Given the description of an element on the screen output the (x, y) to click on. 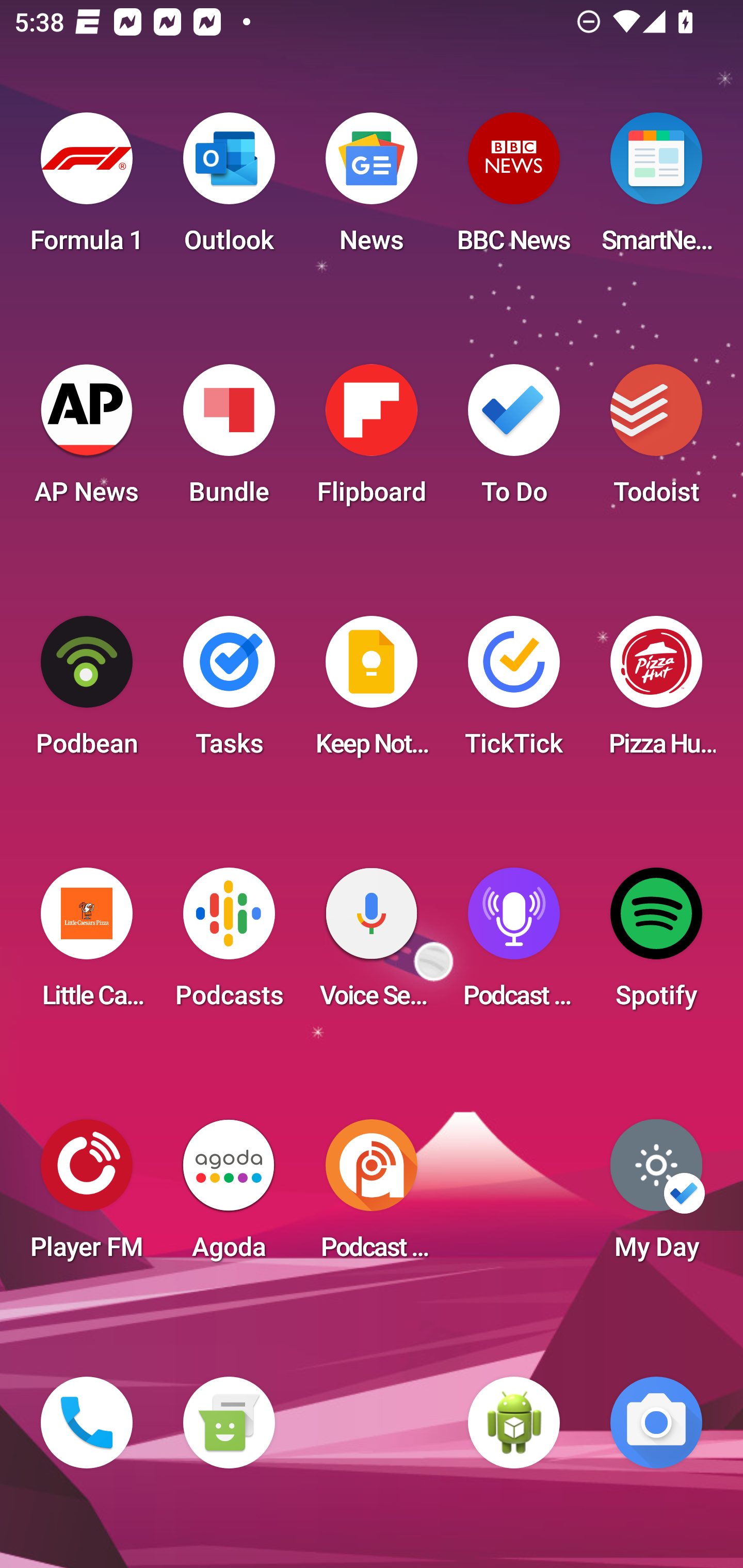
Formula 1 (86, 188)
Outlook (228, 188)
News (371, 188)
BBC News (513, 188)
SmartNews (656, 188)
AP News (86, 440)
Bundle (228, 440)
Flipboard (371, 440)
To Do (513, 440)
Todoist (656, 440)
Podbean (86, 692)
Tasks (228, 692)
Keep Notes (371, 692)
TickTick (513, 692)
Pizza Hut HK & Macau (656, 692)
Little Caesars Pizza (86, 943)
Podcasts (228, 943)
Voice Search (371, 943)
Podcast Player (513, 943)
Spotify (656, 943)
Player FM (86, 1195)
Agoda (228, 1195)
Podcast Addict (371, 1195)
My Day (656, 1195)
Phone (86, 1422)
Messaging (228, 1422)
WebView Browser Tester (513, 1422)
Camera (656, 1422)
